Given the description of an element on the screen output the (x, y) to click on. 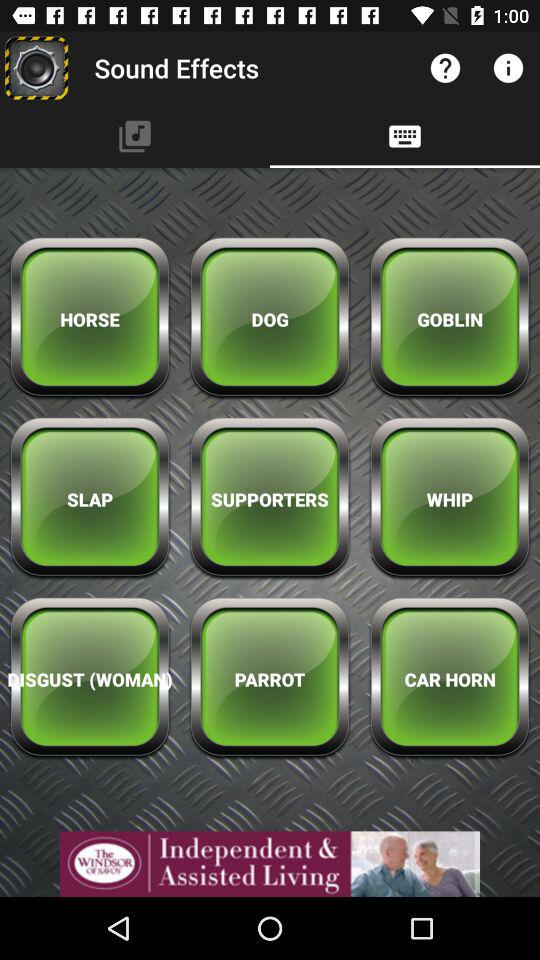
home button (36, 68)
